Given the description of an element on the screen output the (x, y) to click on. 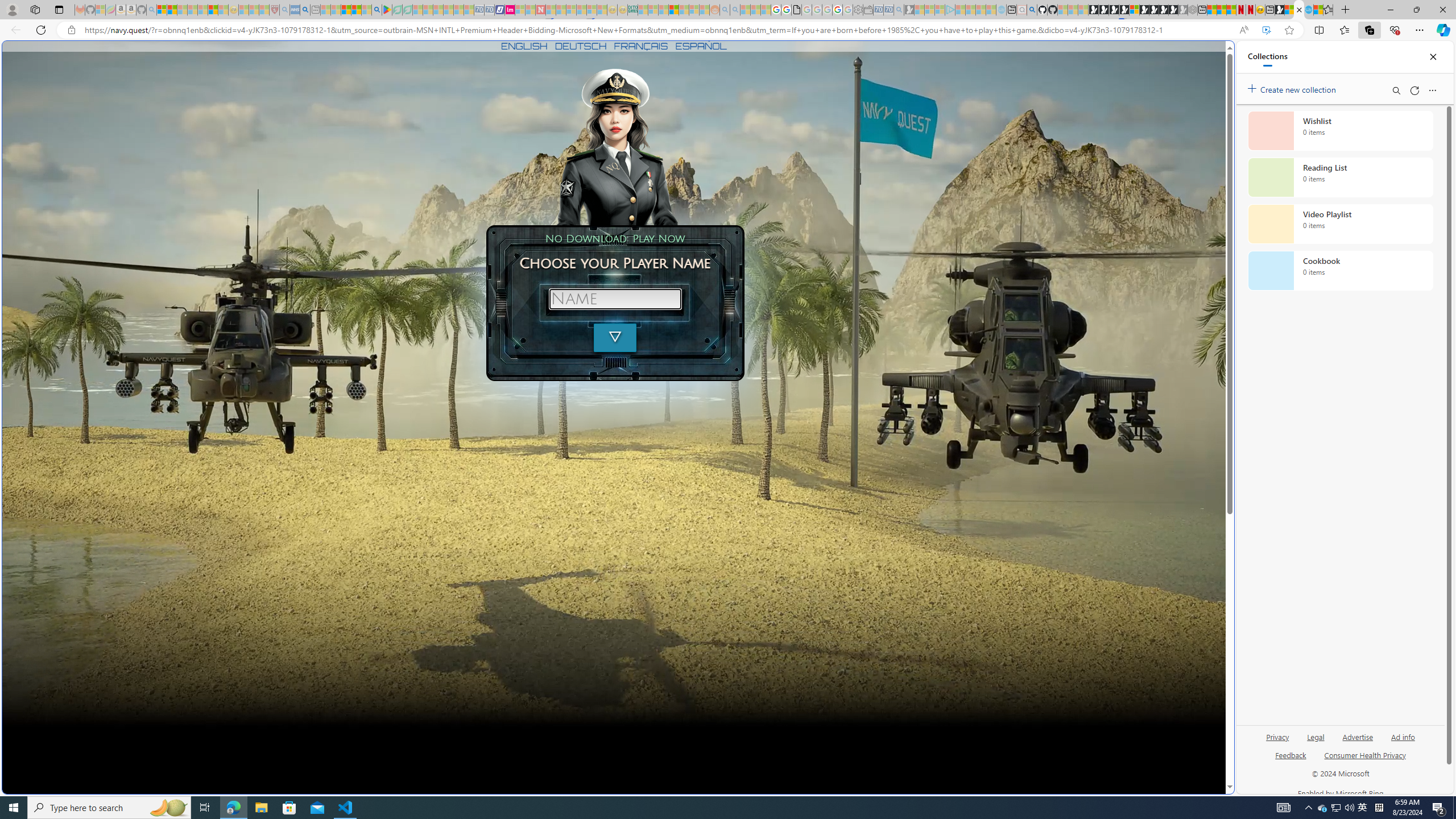
Create new collection (1293, 87)
Bluey: Let's Play! - Apps on Google Play (387, 9)
Enhance video (1266, 29)
